Given the description of an element on the screen output the (x, y) to click on. 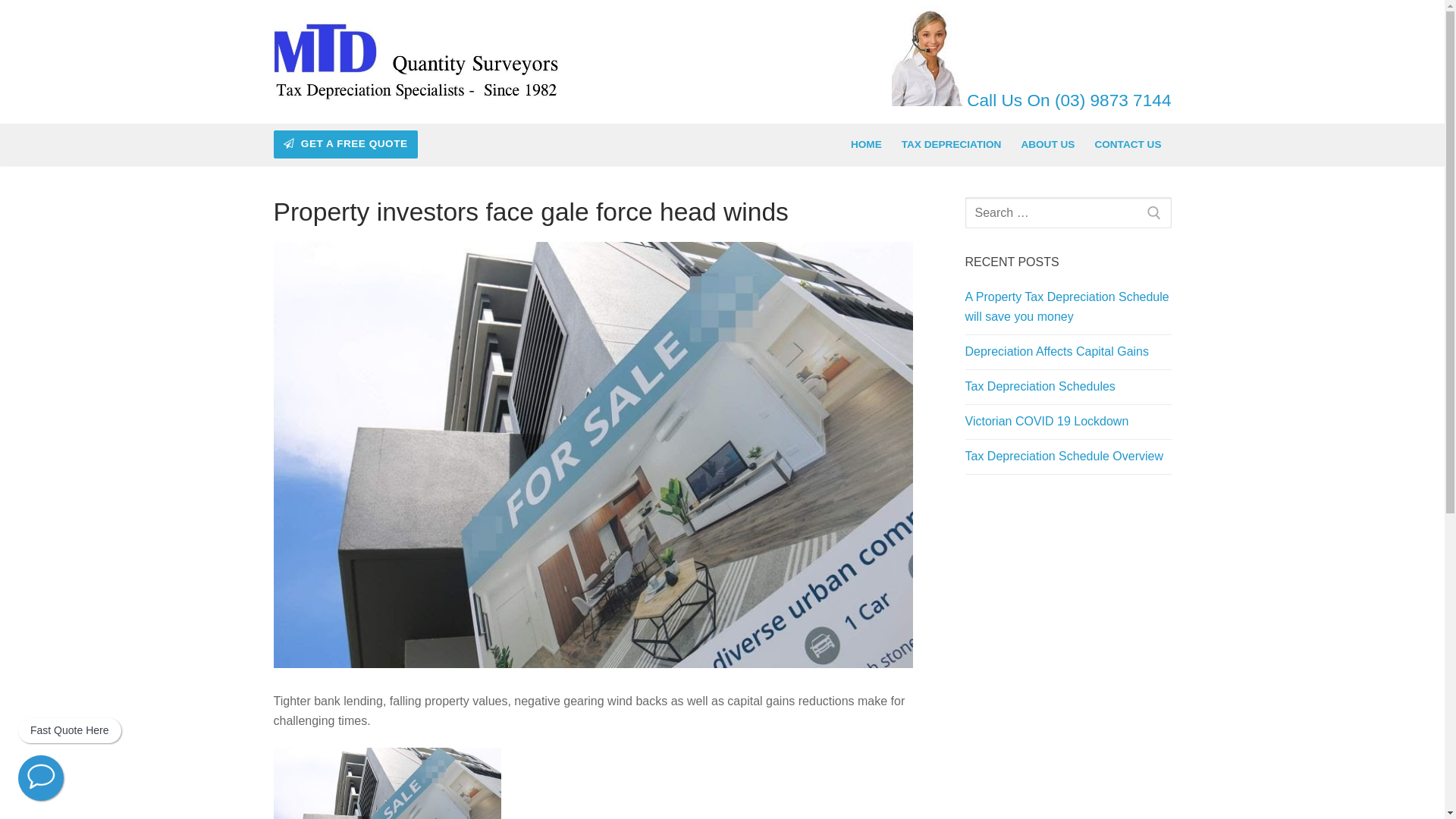
GET A FREE QUOTE Element type: text (345, 144)
A Property Tax Depreciation Schedule will save you money Element type: text (1067, 310)
Call Us On (03) 9873 7144 Element type: text (1066, 99)
TAX DEPRECIATION Element type: text (951, 144)
HOME Element type: text (865, 144)
CONTACT US Element type: text (1127, 144)
Tax Depreciation Schedules Element type: text (1067, 390)
Depreciation Affects Capital Gains Element type: text (1067, 355)
Search for: Element type: hover (1067, 213)
Tax Depreciation Schedule Overview Element type: text (1067, 459)
Victorian COVID 19 Lockdown Element type: text (1067, 425)
ABOUT US Element type: text (1047, 144)
